Given the description of an element on the screen output the (x, y) to click on. 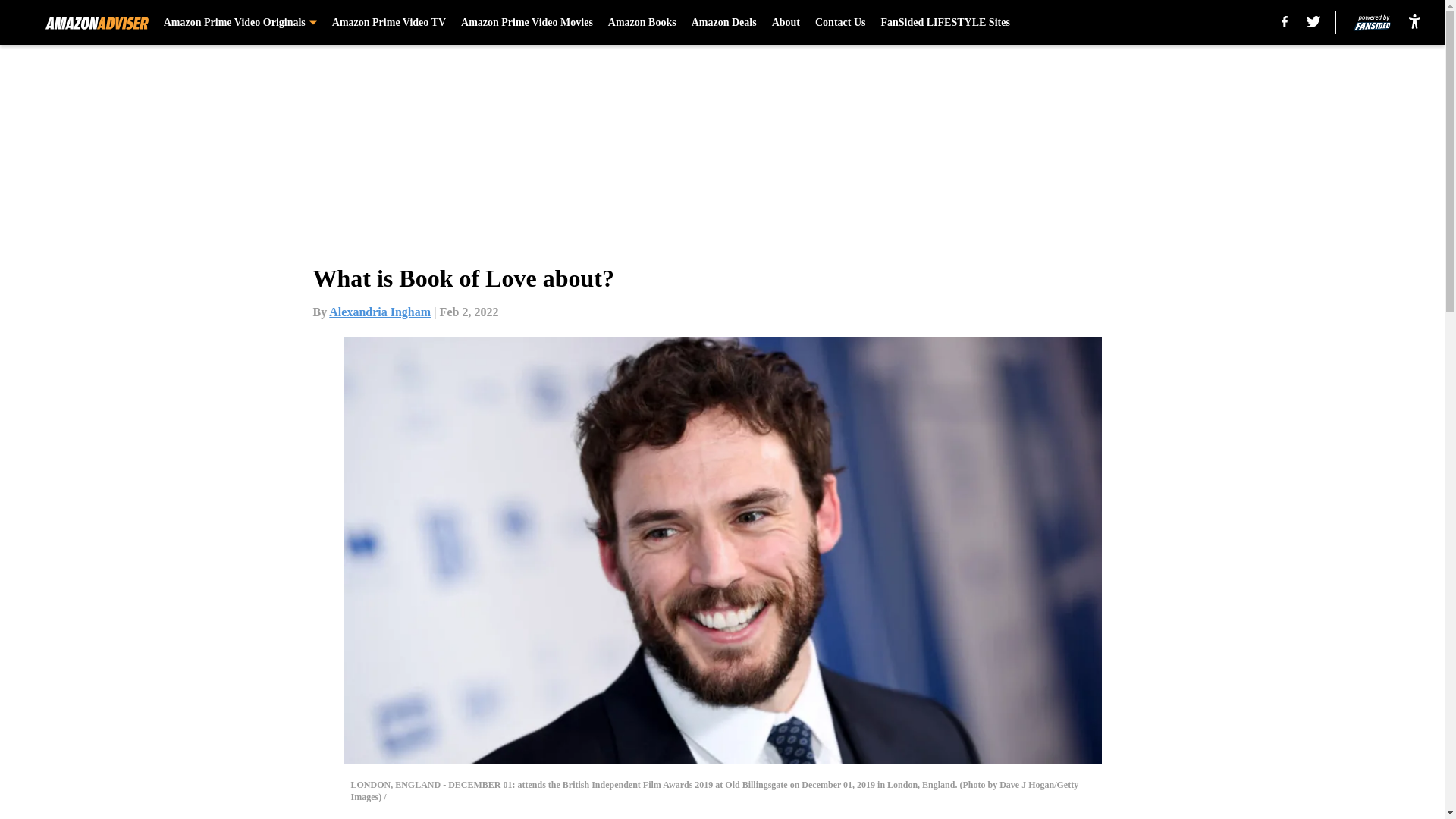
Amazon Prime Video TV (388, 22)
Amazon Books (642, 22)
Amazon Deals (724, 22)
About (785, 22)
Alexandria Ingham (379, 311)
Amazon Prime Video Movies (526, 22)
FanSided LIFESTYLE Sites (944, 22)
Contact Us (840, 22)
